Given the description of an element on the screen output the (x, y) to click on. 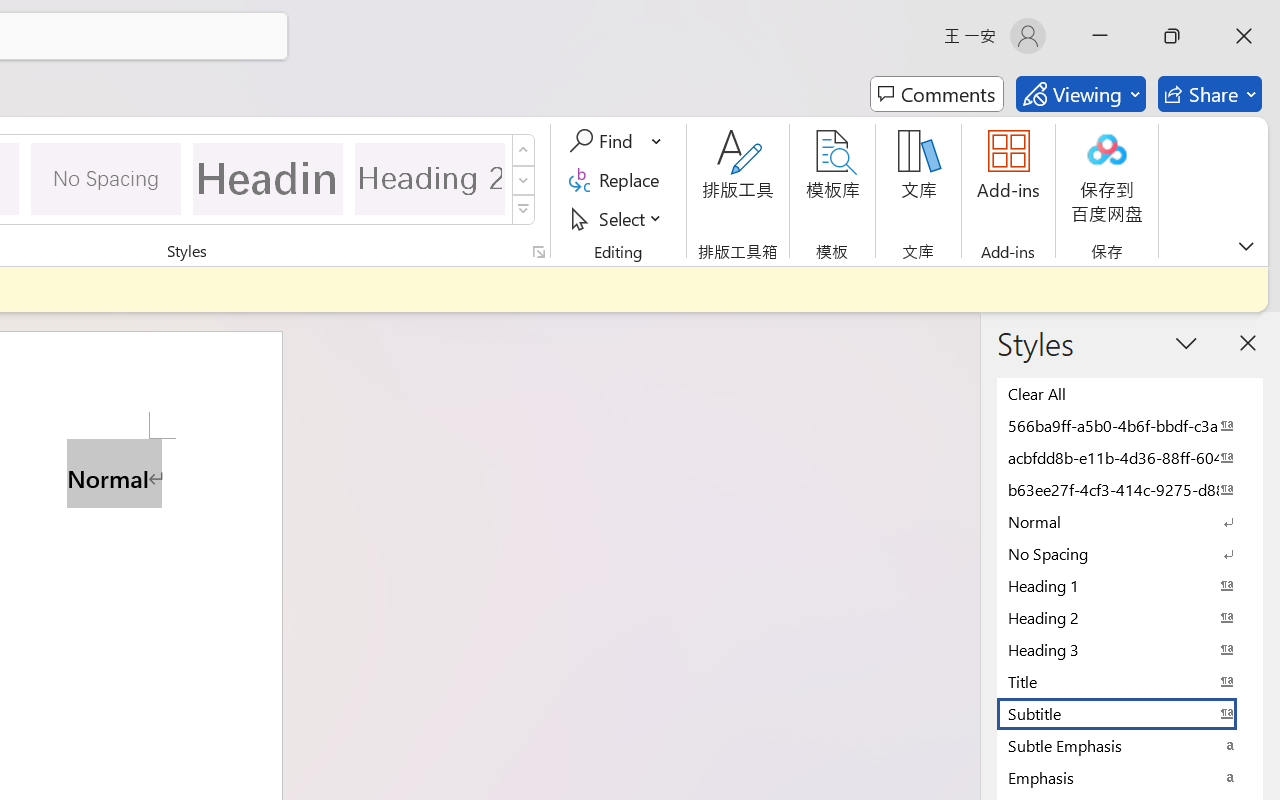
Styles (523, 209)
Task Pane Options (1186, 343)
Row up (523, 150)
Ribbon Display Options (1246, 245)
No Spacing (1130, 553)
Subtle Emphasis (1130, 745)
Select (618, 218)
Clear All (1130, 393)
Heading 3 (1130, 649)
Normal (1130, 521)
Heading 1 (267, 178)
566ba9ff-a5b0-4b6f-bbdf-c3ab41993fc2 (1130, 425)
